Given the description of an element on the screen output the (x, y) to click on. 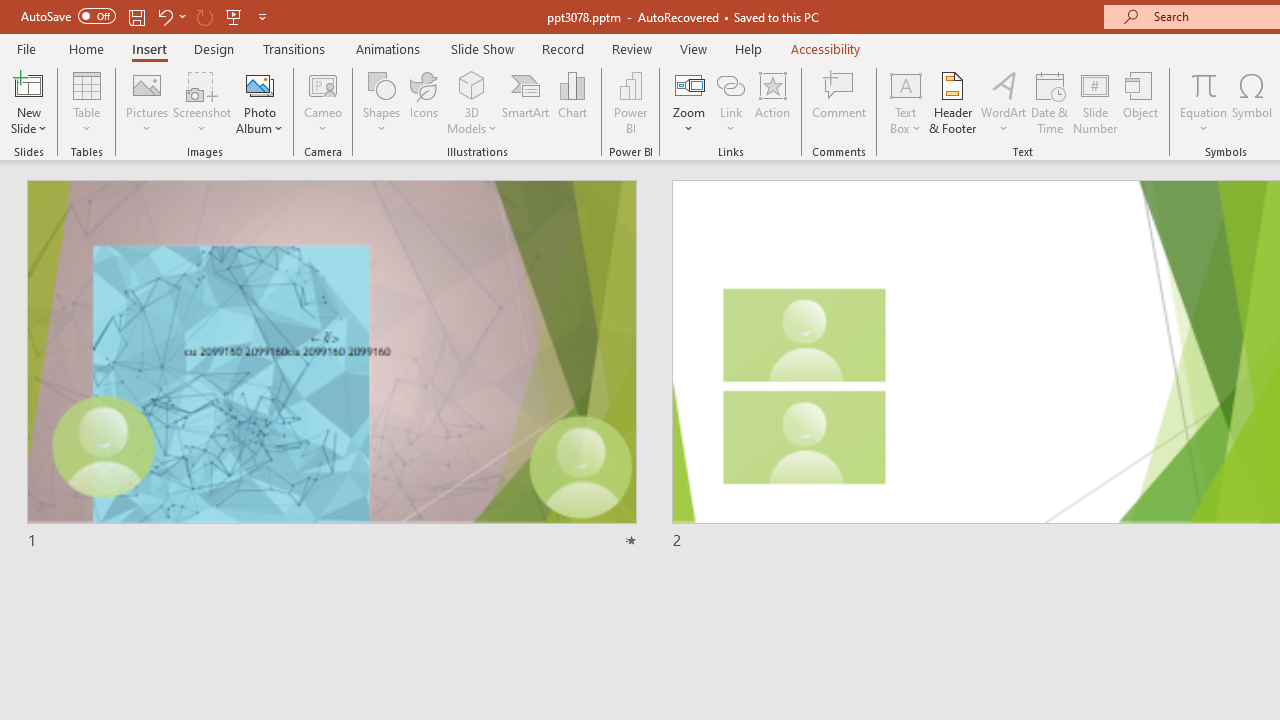
Header & Footer... (952, 102)
Icons (424, 102)
Date & Time... (1050, 102)
Cameo (323, 102)
